Given the description of an element on the screen output the (x, y) to click on. 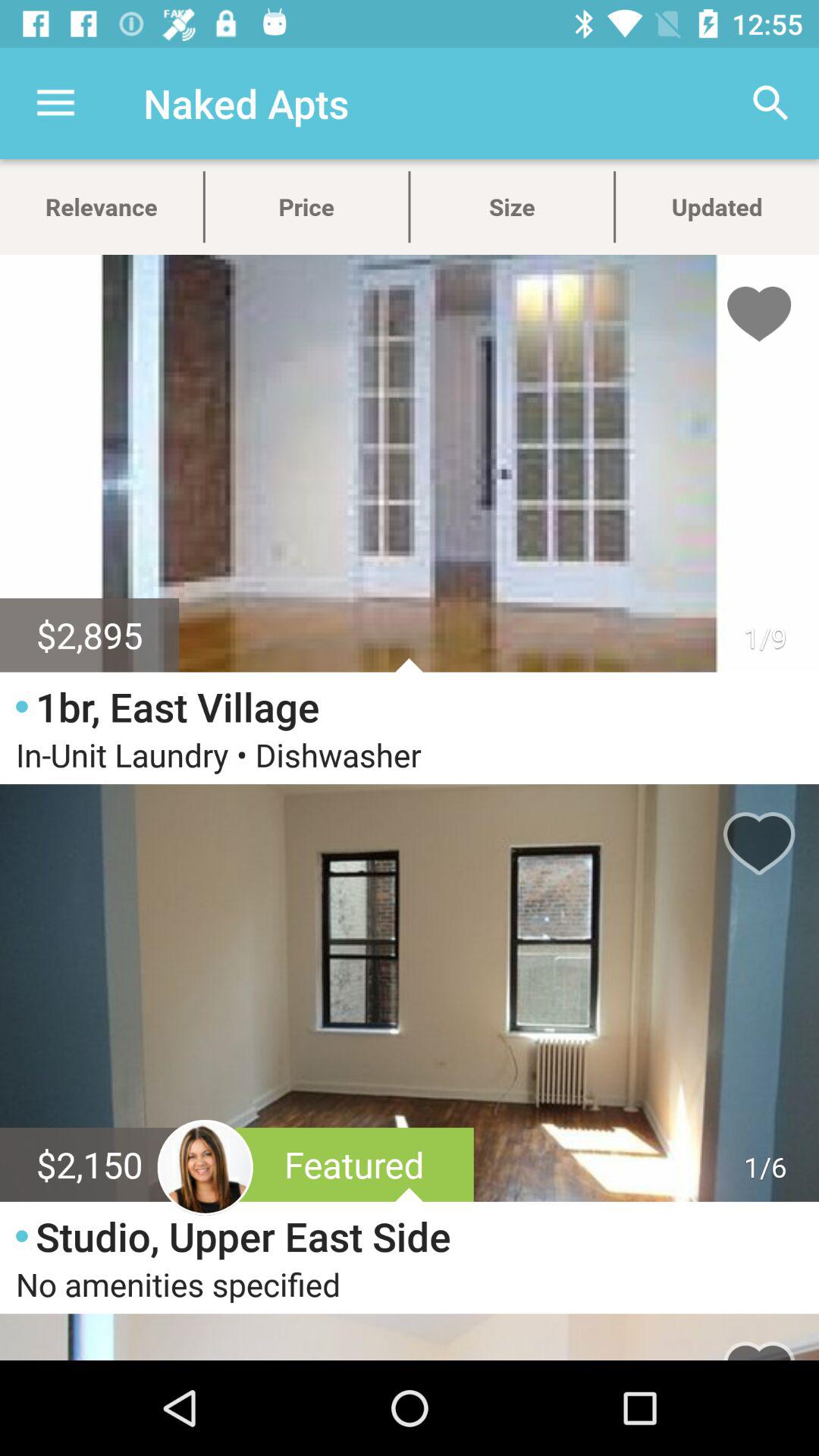
choose the item next to size item (771, 103)
